Given the description of an element on the screen output the (x, y) to click on. 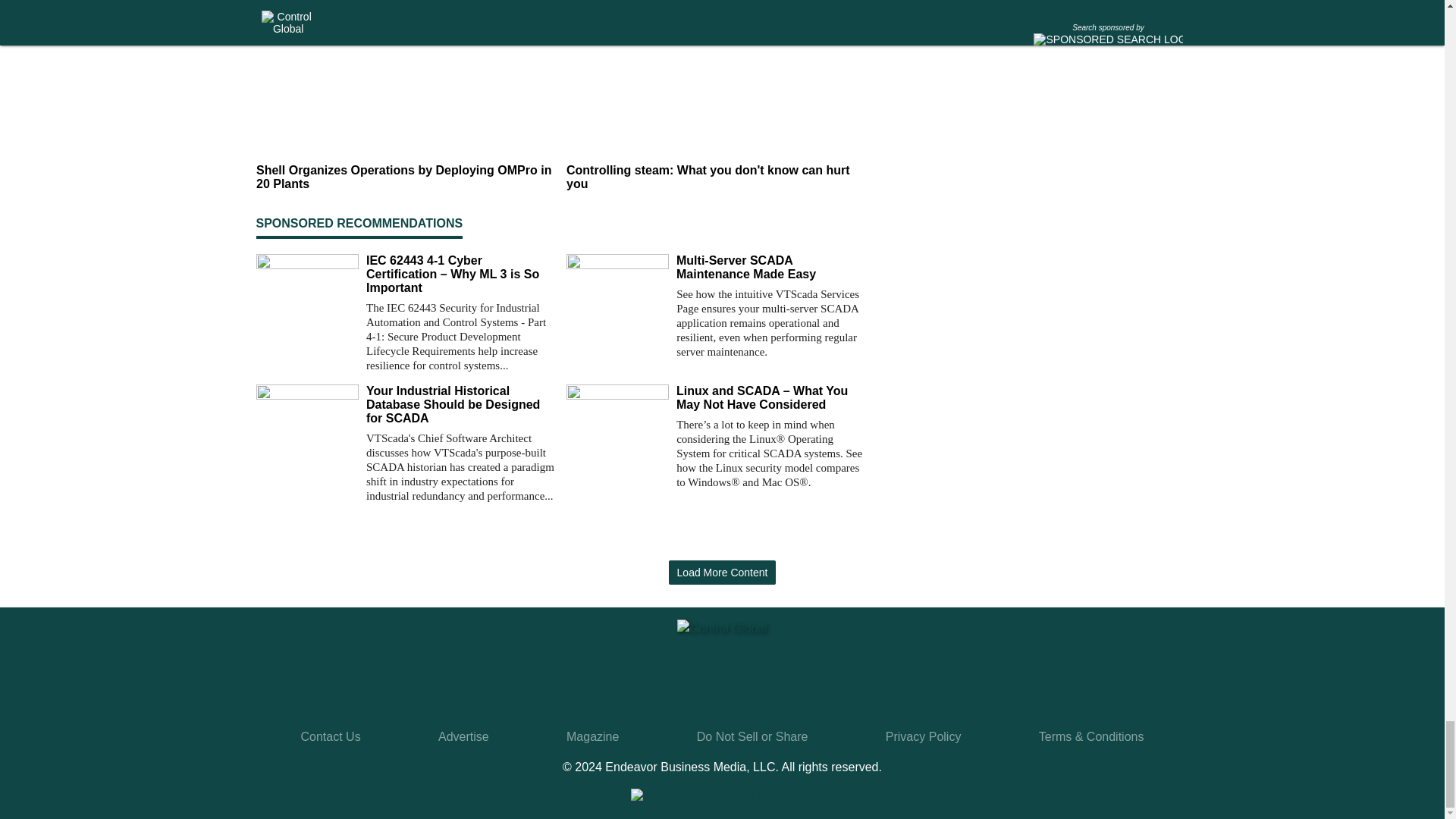
Multi-Server SCADA Maintenance Made Easy (770, 267)
Shell Organizes Operations by Deploying OMPro in 20 Plants (405, 176)
Controlling steam: What you don't know can hurt you (715, 176)
